Given the description of an element on the screen output the (x, y) to click on. 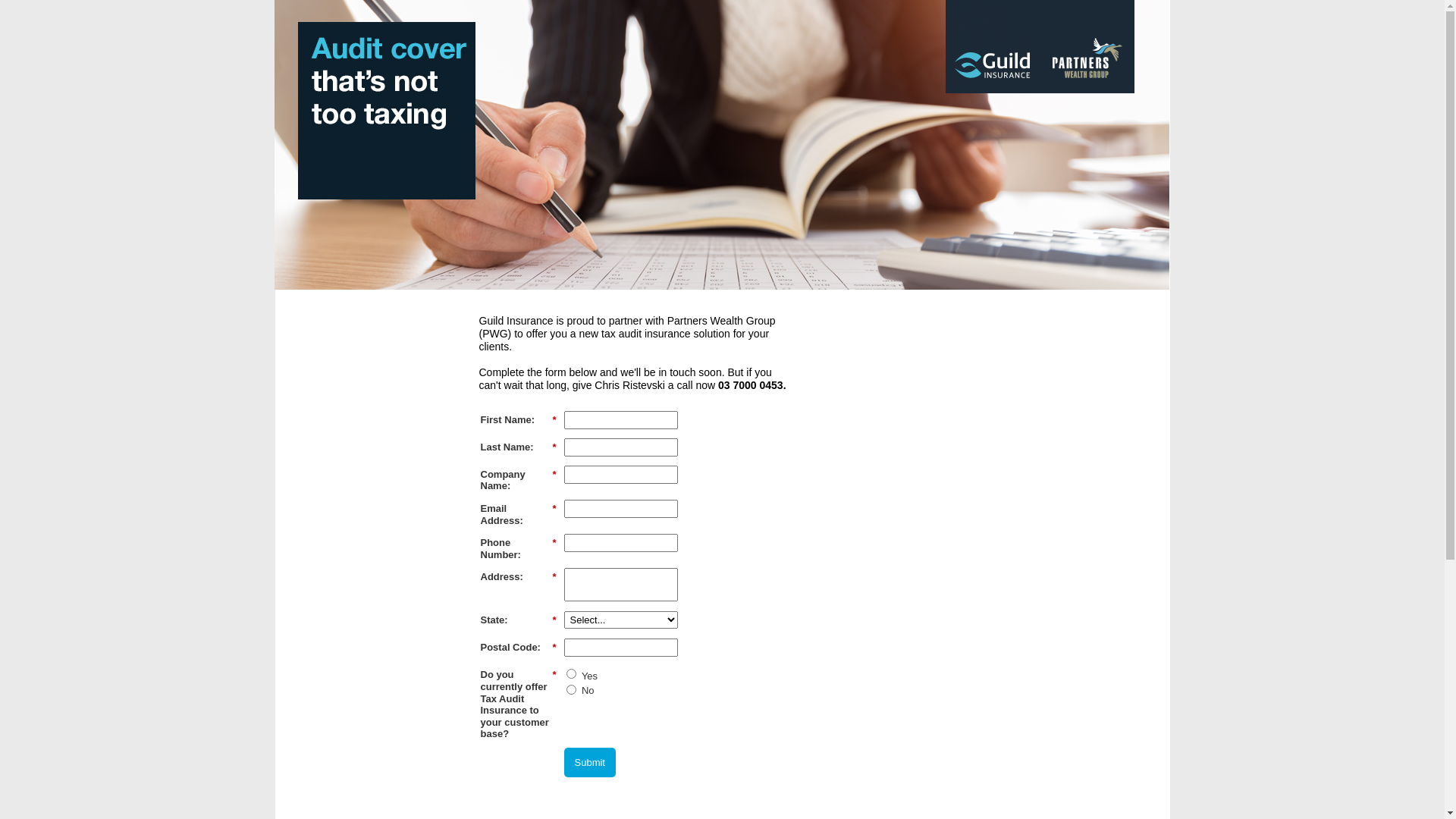
Submit Element type: text (589, 762)
